Given the description of an element on the screen output the (x, y) to click on. 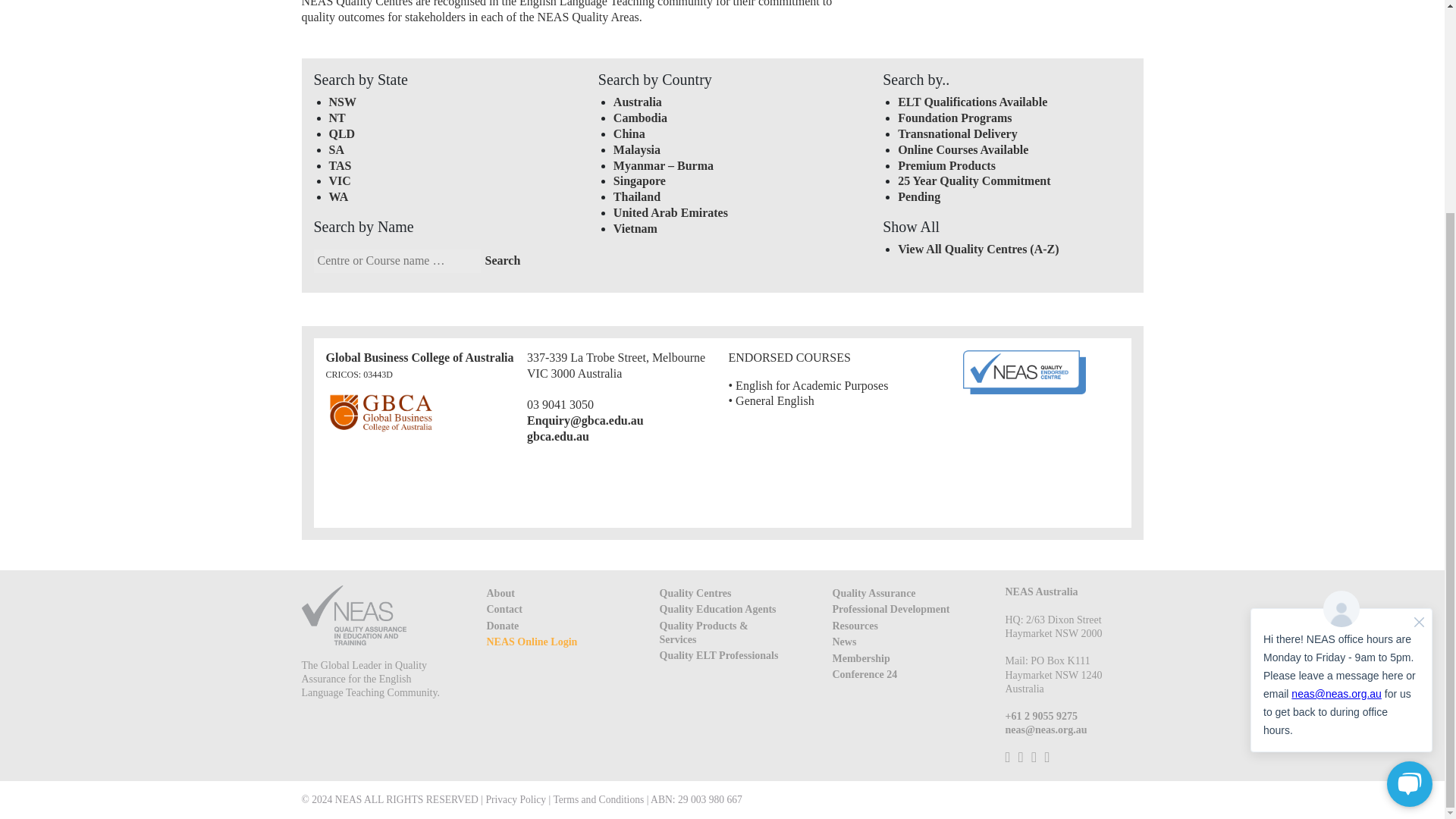
Search (502, 261)
